Given the description of an element on the screen output the (x, y) to click on. 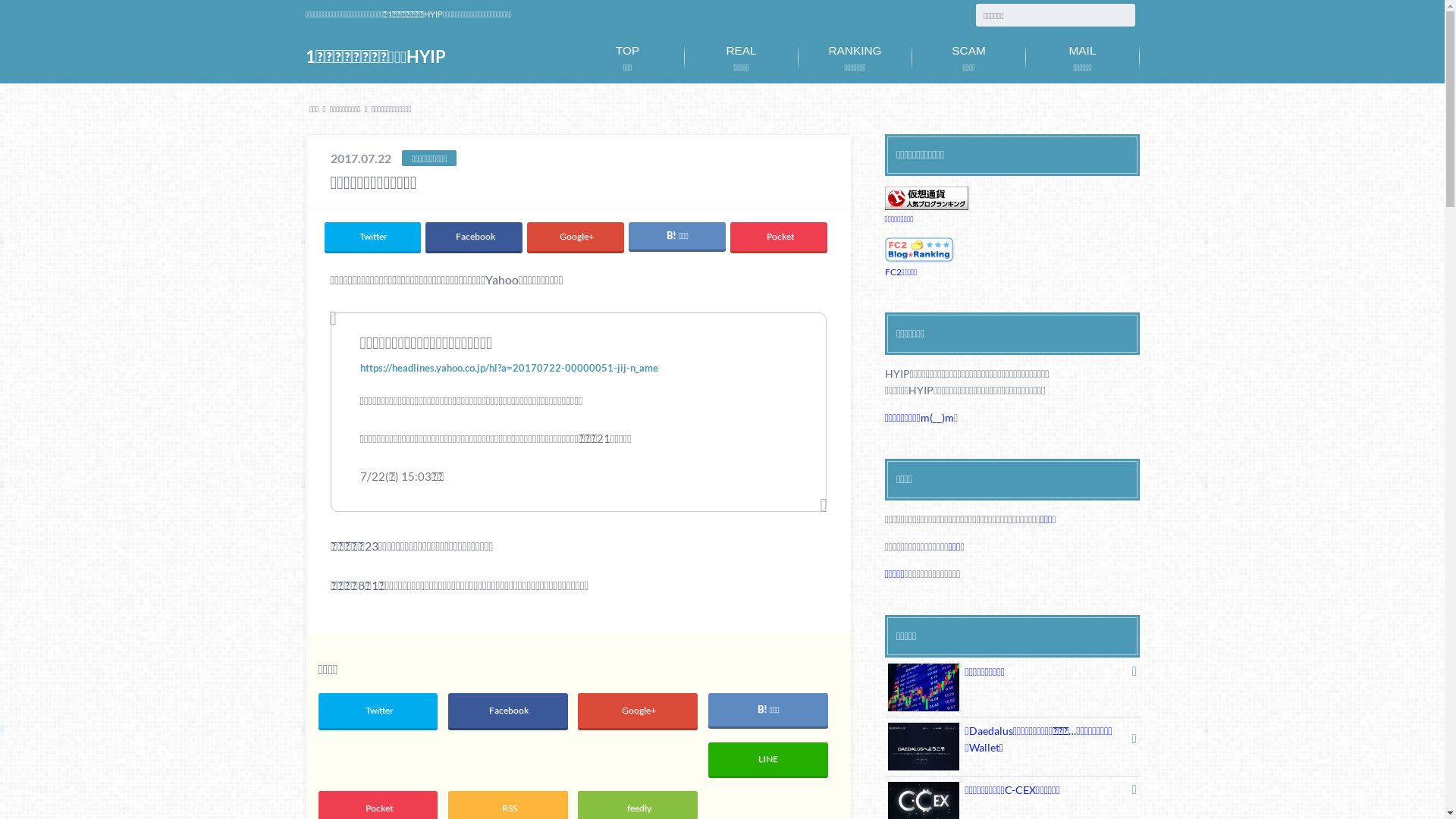
Twitter Element type: text (372, 236)
Twitter Element type: text (378, 710)
Google+ Element type: text (575, 236)
Google+ Element type: text (637, 710)
Facebook Element type: text (507, 710)
LINE Element type: text (768, 758)
Facebook Element type: text (473, 236)
Pocket Element type: text (778, 236)
